Given the description of an element on the screen output the (x, y) to click on. 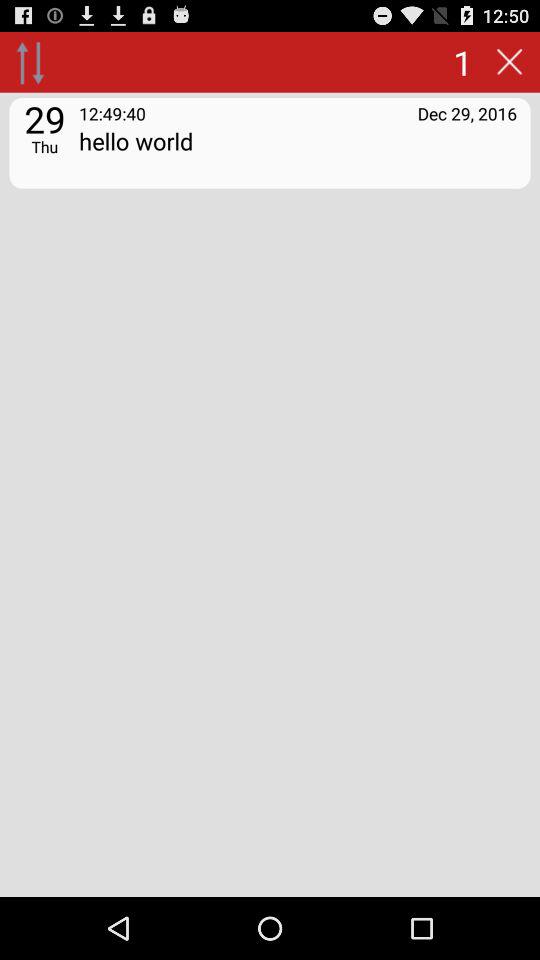
click the icon above dec 29, 2016 item (509, 61)
